Given the description of an element on the screen output the (x, y) to click on. 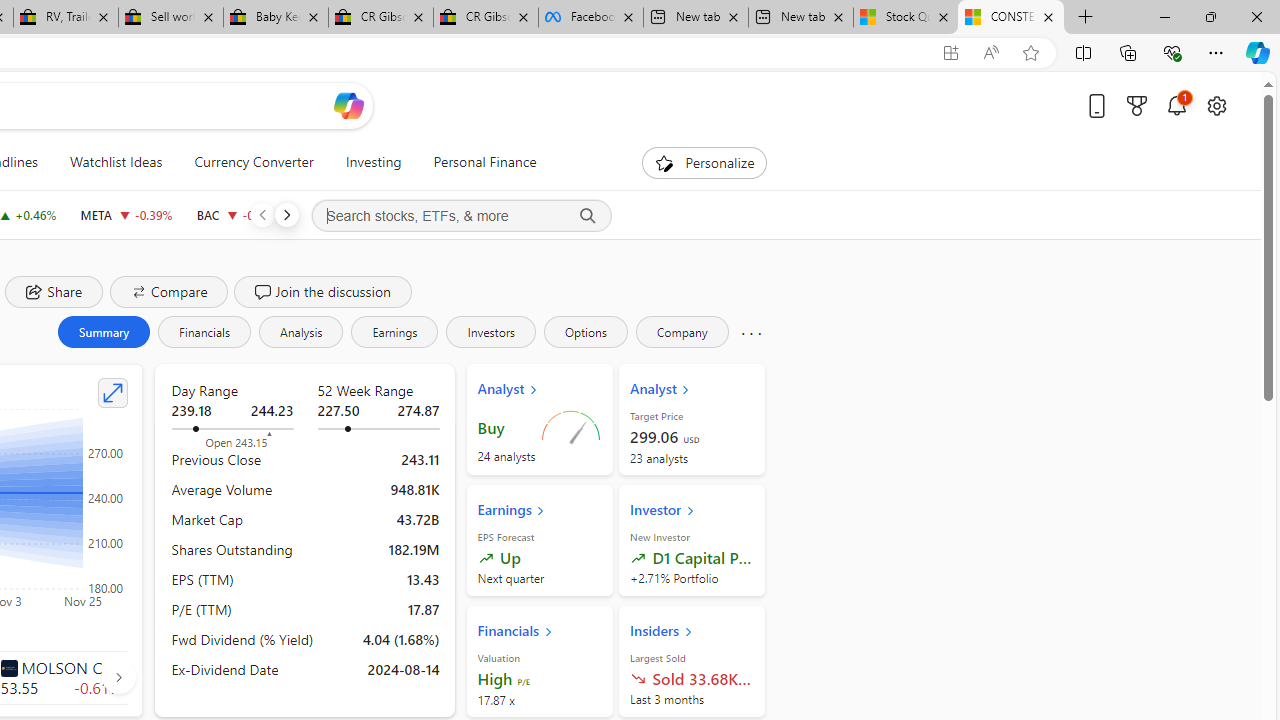
Options (585, 331)
AutomationID: finance_carousel_navi_right (118, 677)
Compare (168, 291)
Investors (490, 331)
Watchlist Ideas (115, 162)
Class: card_head_icon_lightMode-DS-EntryPoint1-1 (687, 631)
Search stocks, ETFs, & more (461, 215)
